Given the description of an element on the screen output the (x, y) to click on. 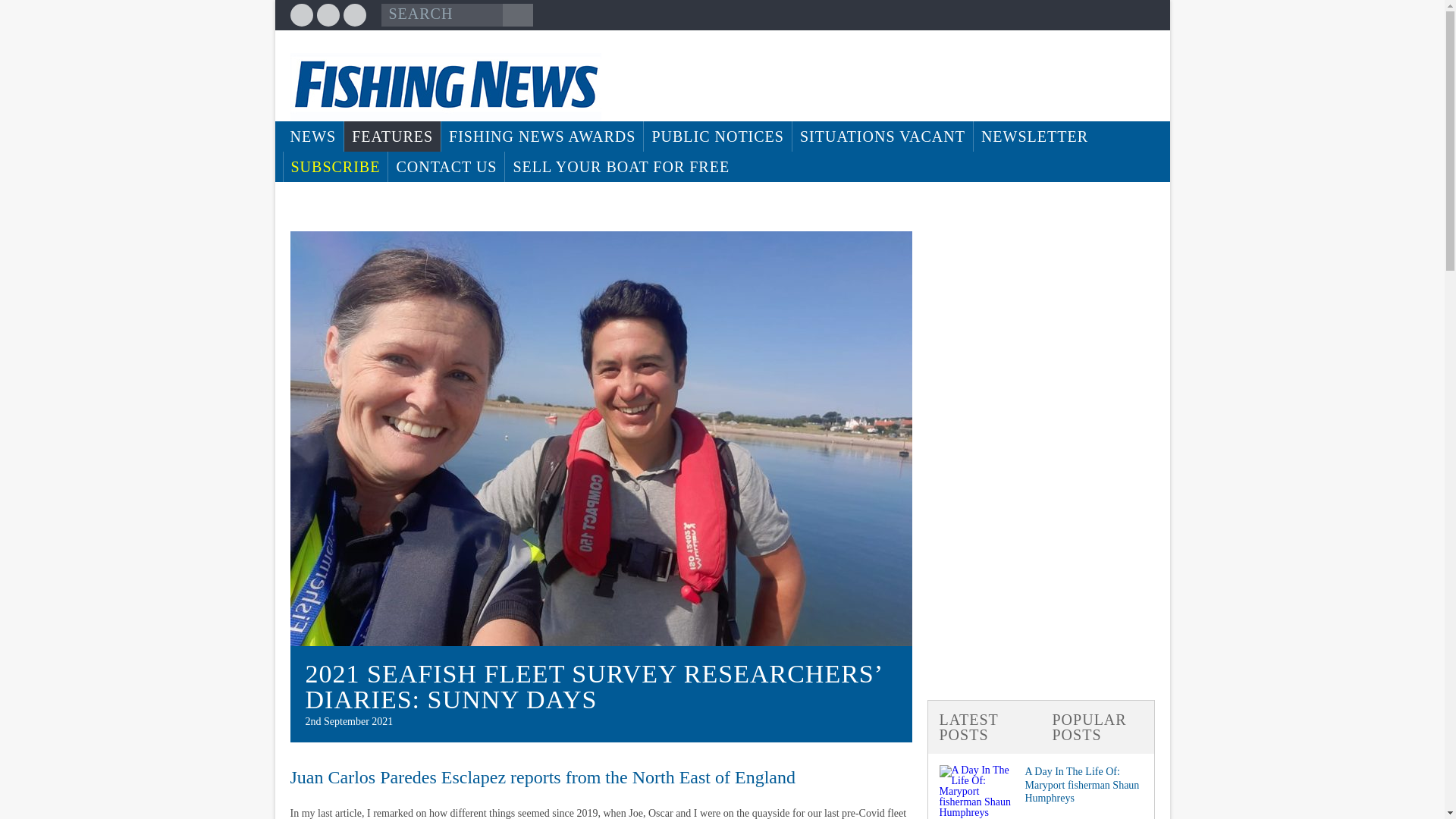
NEWSLETTER (1035, 136)
SITUATIONS VACANT (882, 136)
SELL YOUR BOAT FOR FREE (620, 166)
Search (517, 15)
YouTube (353, 15)
LATEST POSTS (984, 727)
POPULAR POSTS (1097, 727)
Twitter (328, 15)
PUBLIC NOTICES (717, 136)
CONTACT US (445, 166)
